Given the description of an element on the screen output the (x, y) to click on. 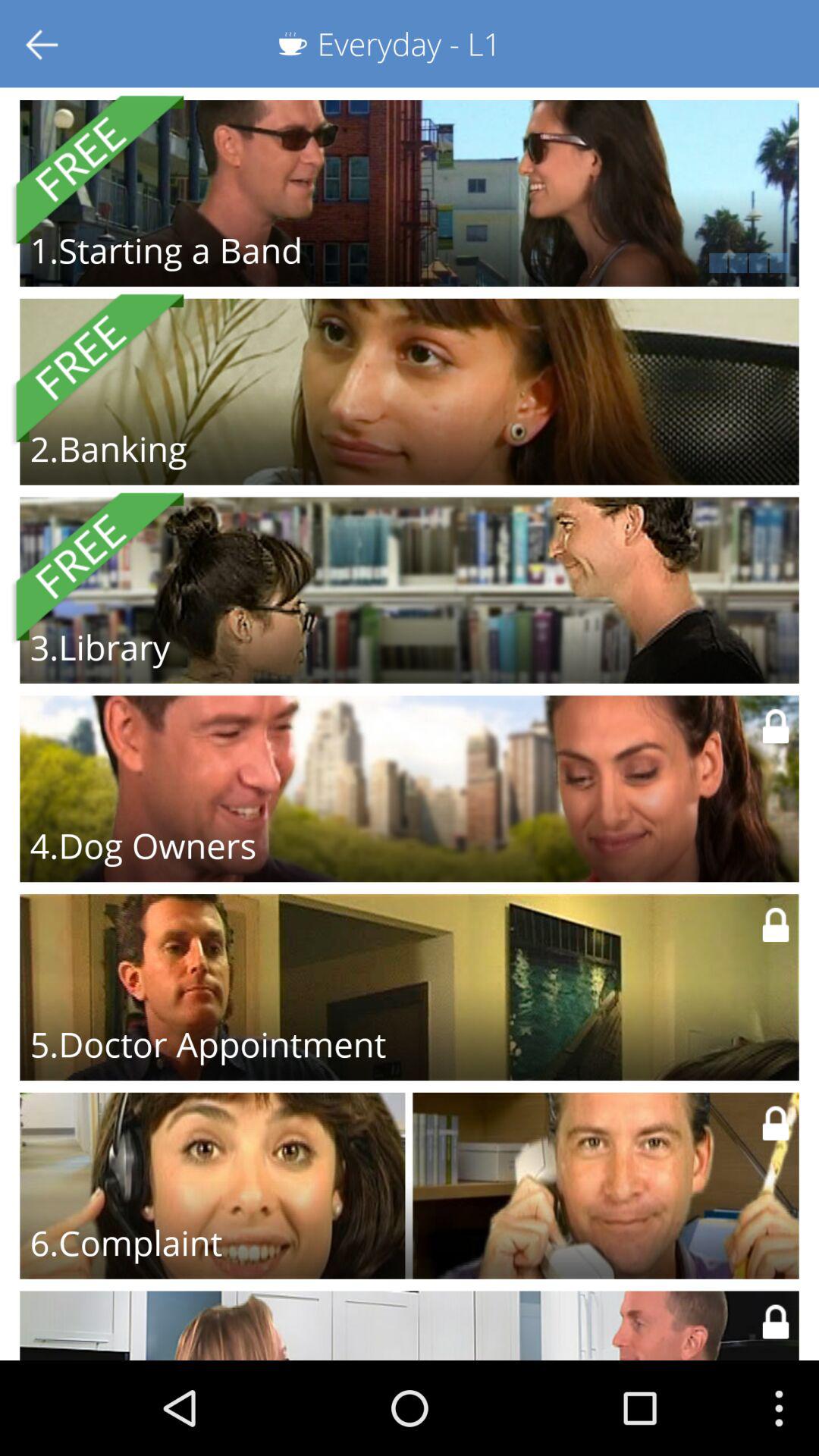
launch 2.banking (108, 448)
